Given the description of an element on the screen output the (x, y) to click on. 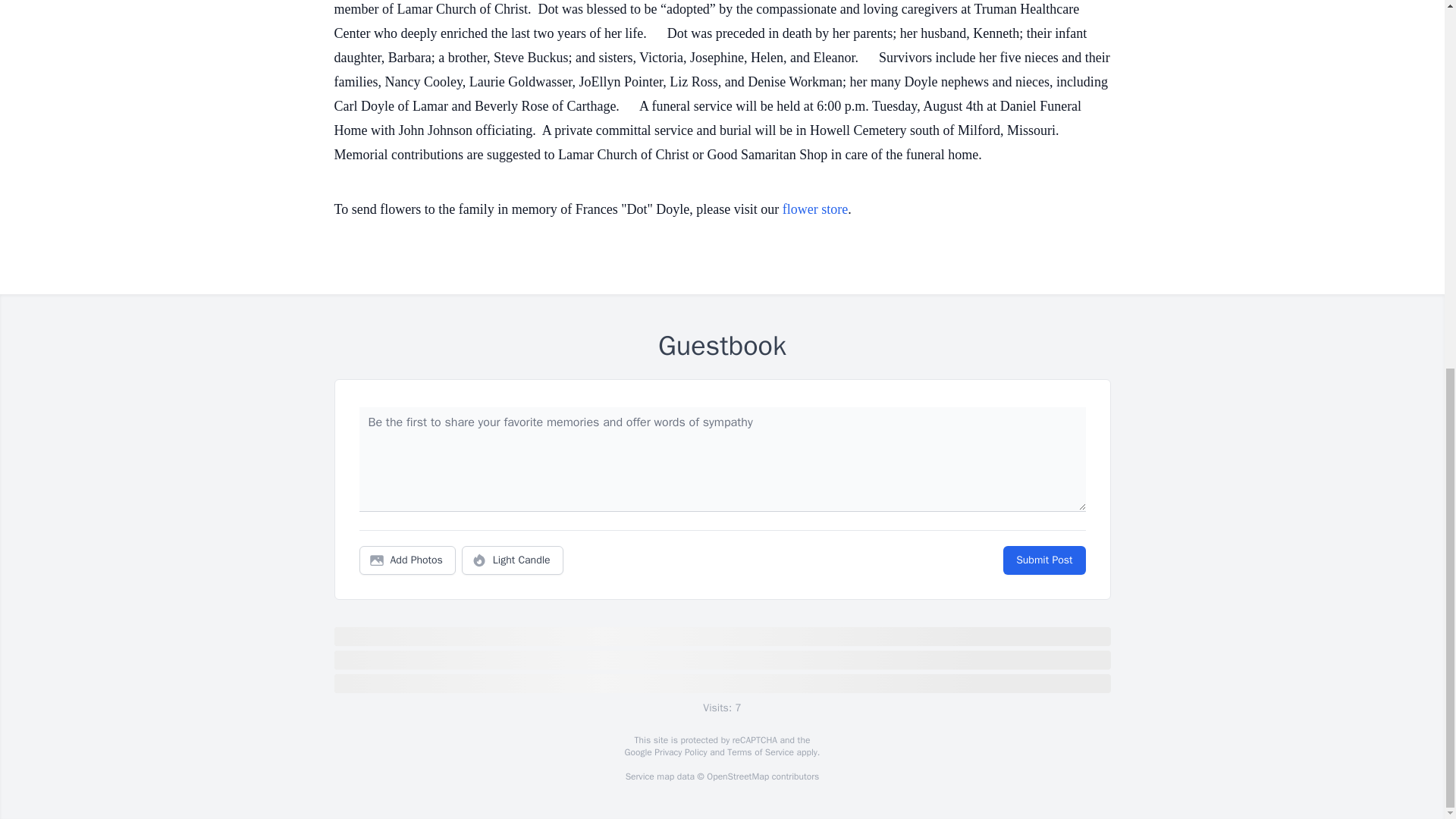
Add Photos (407, 560)
Terms of Service (759, 752)
OpenStreetMap (737, 776)
Privacy Policy (679, 752)
Submit Post (1043, 560)
Light Candle (512, 560)
flower store (815, 209)
